Given the description of an element on the screen output the (x, y) to click on. 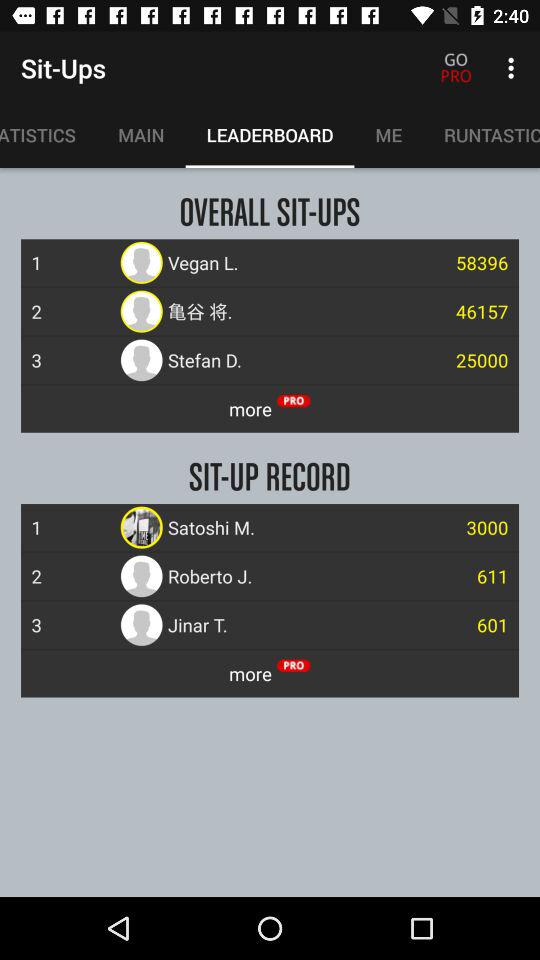
turn off item below the sit-ups app (141, 135)
